Given the description of an element on the screen output the (x, y) to click on. 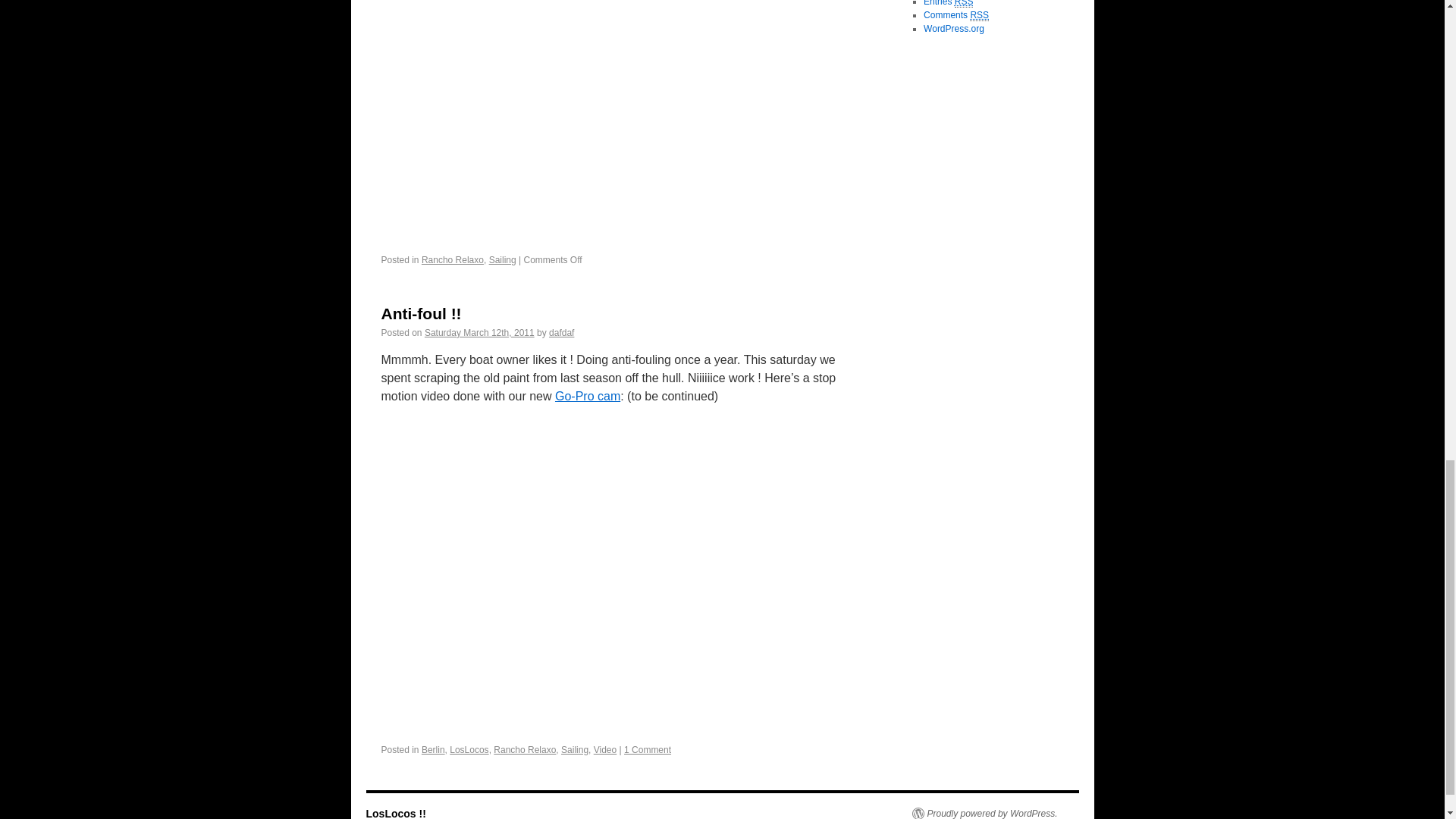
Video (604, 749)
Sailing (502, 259)
Rancho Relaxo (452, 259)
Berlin (433, 749)
Go-Pro cam (587, 395)
Sailing (574, 749)
LosLocos (468, 749)
YouTube video player (623, 115)
Saturday March 12th, 2011 (479, 332)
Rancho Relaxo (524, 749)
1 Comment (647, 749)
Anti-foul !! (420, 313)
dafdaf (560, 332)
